Given the description of an element on the screen output the (x, y) to click on. 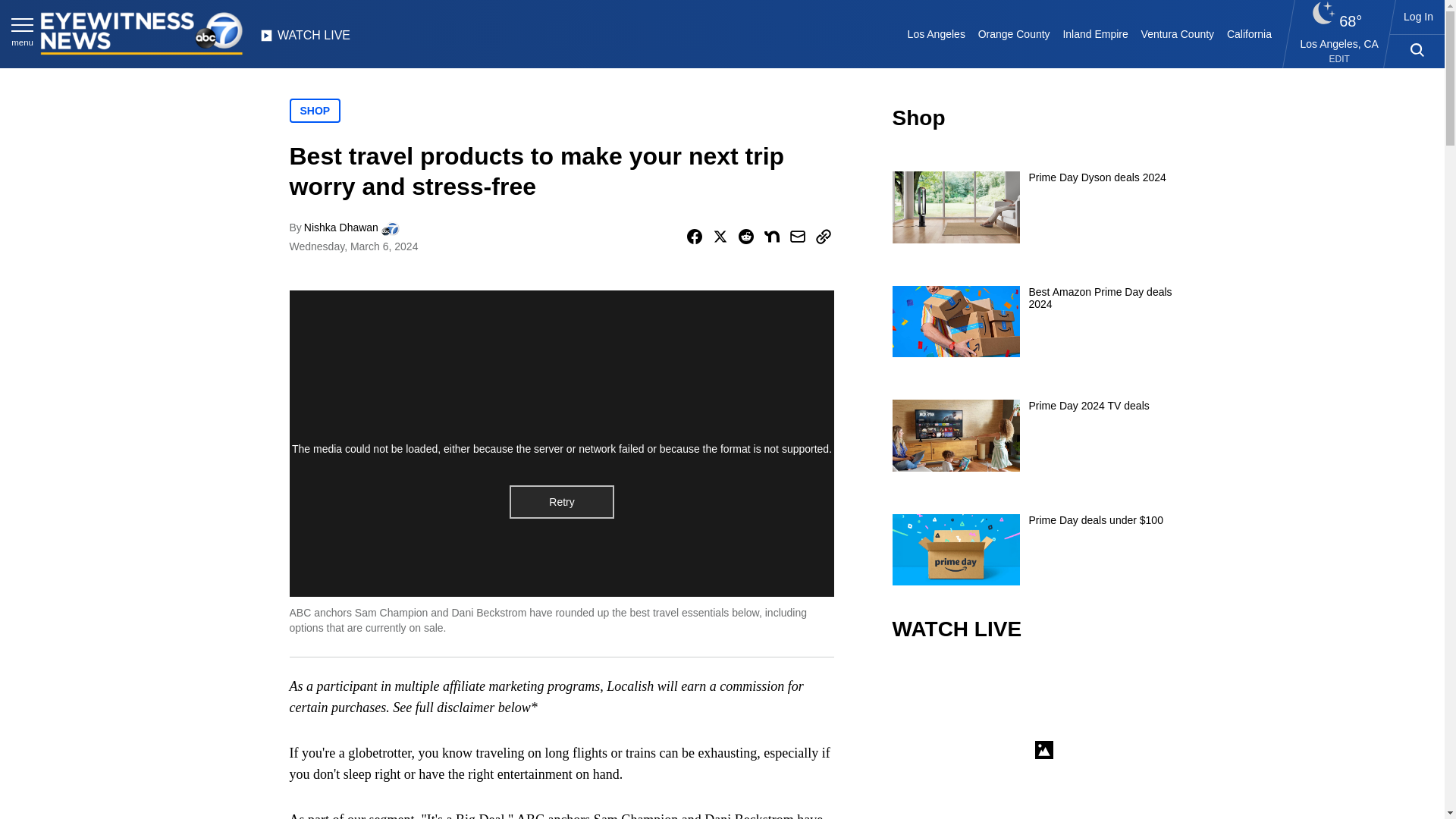
Los Angeles (936, 33)
EDIT (1339, 59)
WATCH LIVE (305, 39)
Inland Empire (1095, 33)
Orange County (1014, 33)
Los Angeles, CA (1339, 43)
California (1249, 33)
Ventura County (1177, 33)
